Given the description of an element on the screen output the (x, y) to click on. 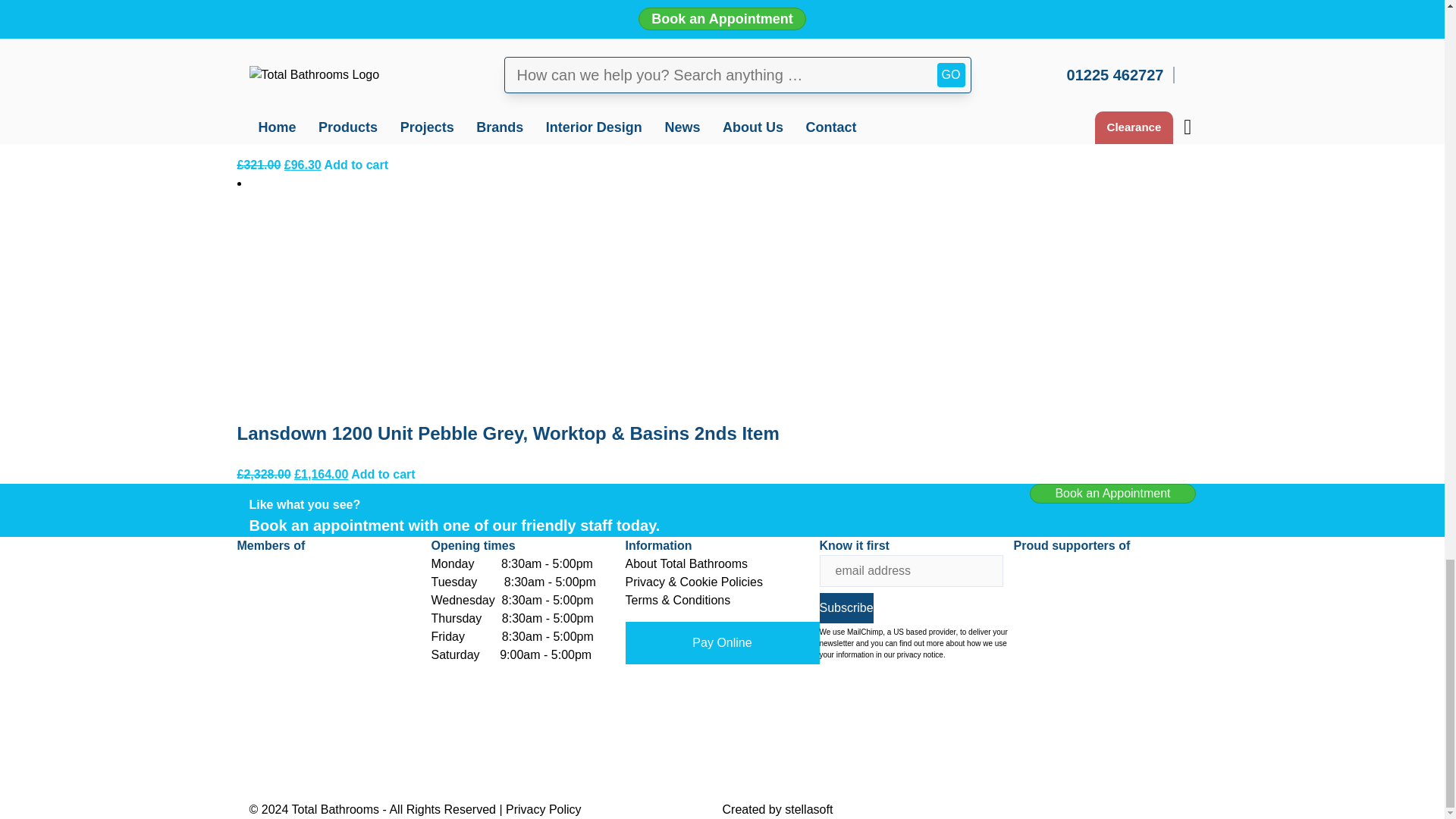
Subscribe (845, 607)
